Given the description of an element on the screen output the (x, y) to click on. 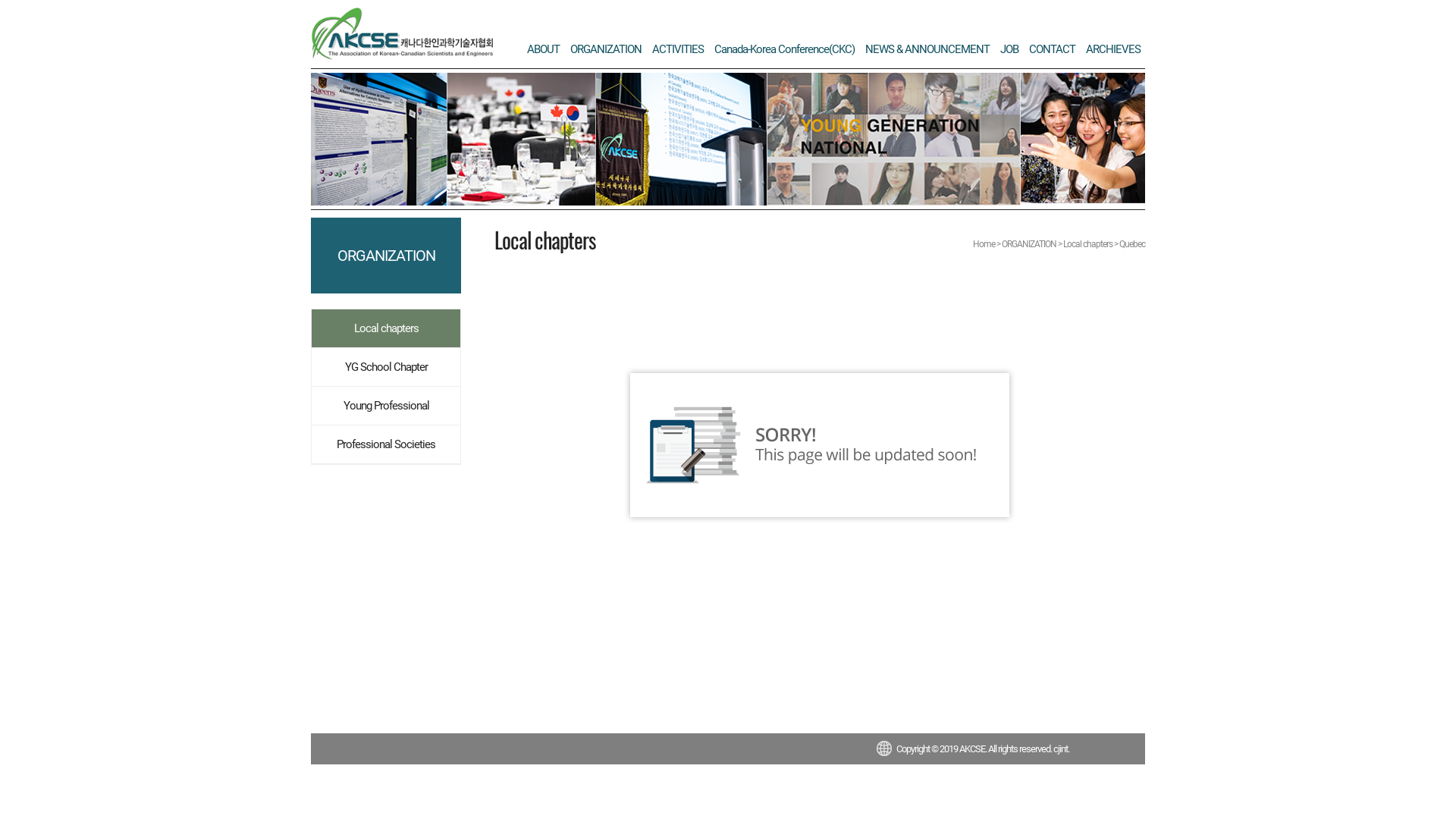
Young Professional Element type: text (385, 405)
CONTACT Element type: text (1051, 48)
JOB Element type: text (1008, 48)
Canada-Korea Conference(CKC) Element type: text (784, 48)
cjint. Element type: text (1061, 748)
ORGANIZATION Element type: text (605, 48)
Professional Societies Element type: text (385, 444)
ACTIVITIES Element type: text (677, 48)
Home Element type: text (983, 244)
Local chapters Element type: text (385, 328)
NEWS & ANNOUNCEMENT Element type: text (927, 48)
ARCHIEVES Element type: text (1113, 48)
ABOUT Element type: text (543, 48)
YG School Chapter Element type: text (385, 366)
